Given the description of an element on the screen output the (x, y) to click on. 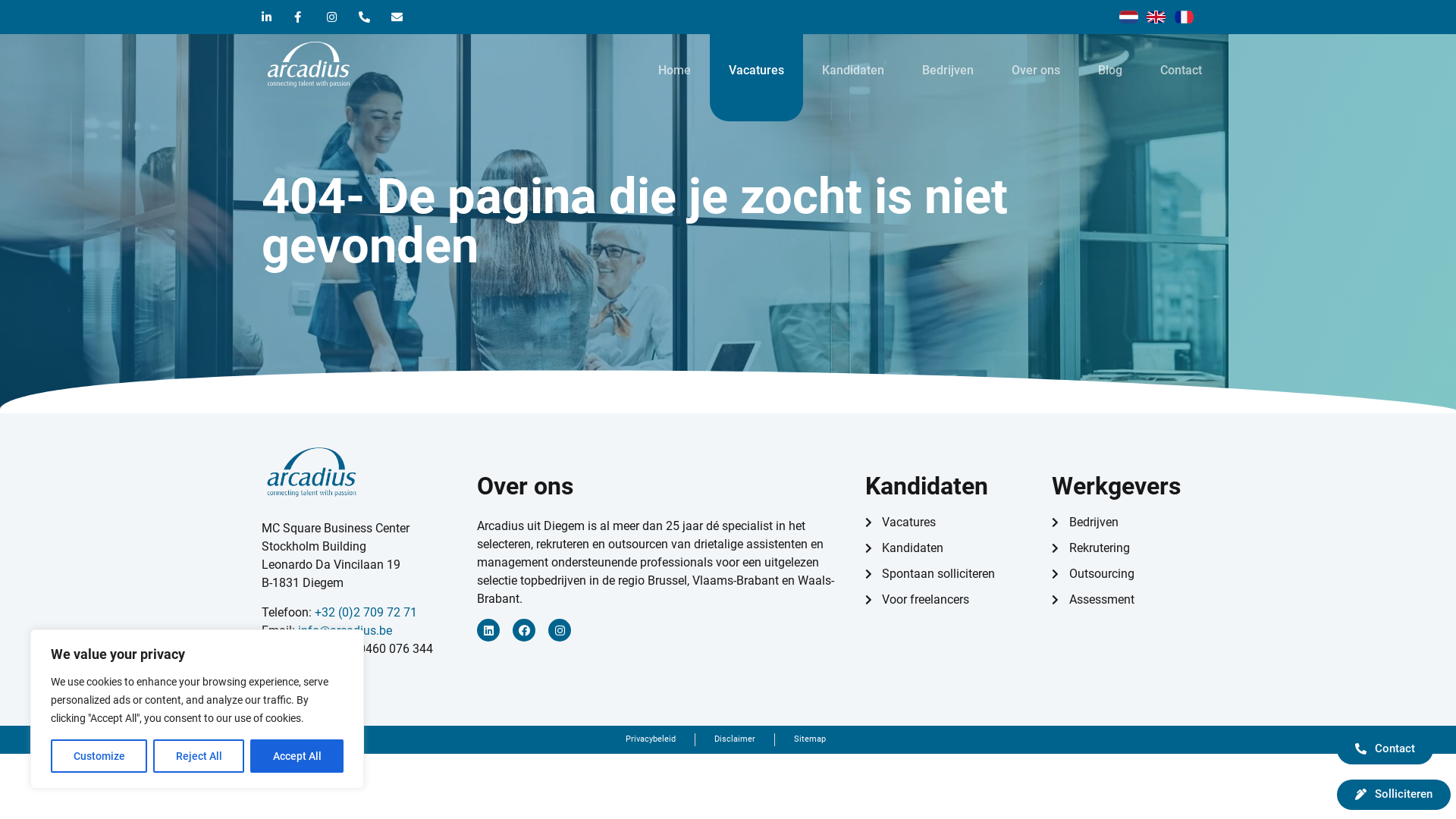
Bedrijven Element type: text (947, 70)
Outsourcing Element type: text (1122, 573)
info@arcadius.be Element type: text (345, 630)
Blog Element type: text (1110, 70)
Voor freelancers Element type: text (951, 599)
Bedrijven Element type: text (1122, 522)
Assessment Element type: text (1122, 599)
Contact Element type: text (1384, 749)
Rekrutering Element type: text (1122, 548)
Home Element type: text (674, 70)
  Element type: text (320, 546)
Kandidaten Element type: text (853, 70)
Kandidaten Element type: text (951, 548)
Accept All Element type: text (296, 755)
Vacatures Element type: text (756, 70)
Reject All Element type: text (198, 755)
Privacybeleid Element type: text (650, 739)
Sitemap Element type: text (809, 739)
Disclaimer Element type: text (734, 739)
Vacatures Element type: text (951, 522)
Solliciteren Element type: text (1393, 794)
Contact Element type: text (1180, 70)
+32 (0)2 709 72 71 Element type: text (365, 612)
Customize Element type: text (98, 755)
Over ons Element type: text (1035, 70)
Spontaan solliciteren Element type: text (951, 573)
